Given the description of an element on the screen output the (x, y) to click on. 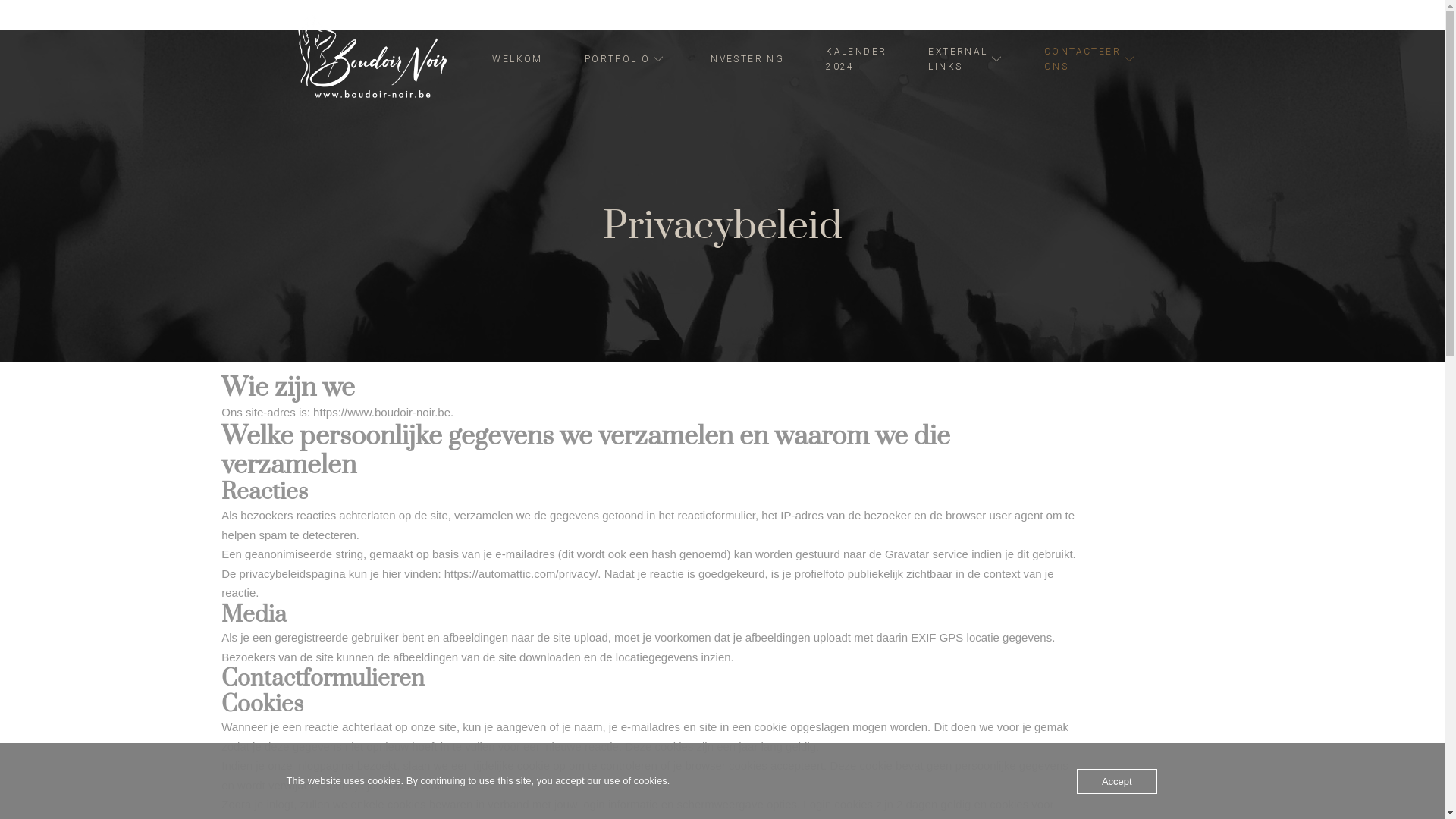
CONTACTEER ONS Element type: text (1079, 59)
INVESTERING Element type: text (735, 59)
EXTERNAL LINKS Element type: text (955, 59)
Accept Element type: text (1116, 780)
PORTFOLIO Element type: text (615, 59)
WELKOM Element type: text (507, 59)
KALENDER 2024 Element type: text (846, 59)
